Given the description of an element on the screen output the (x, y) to click on. 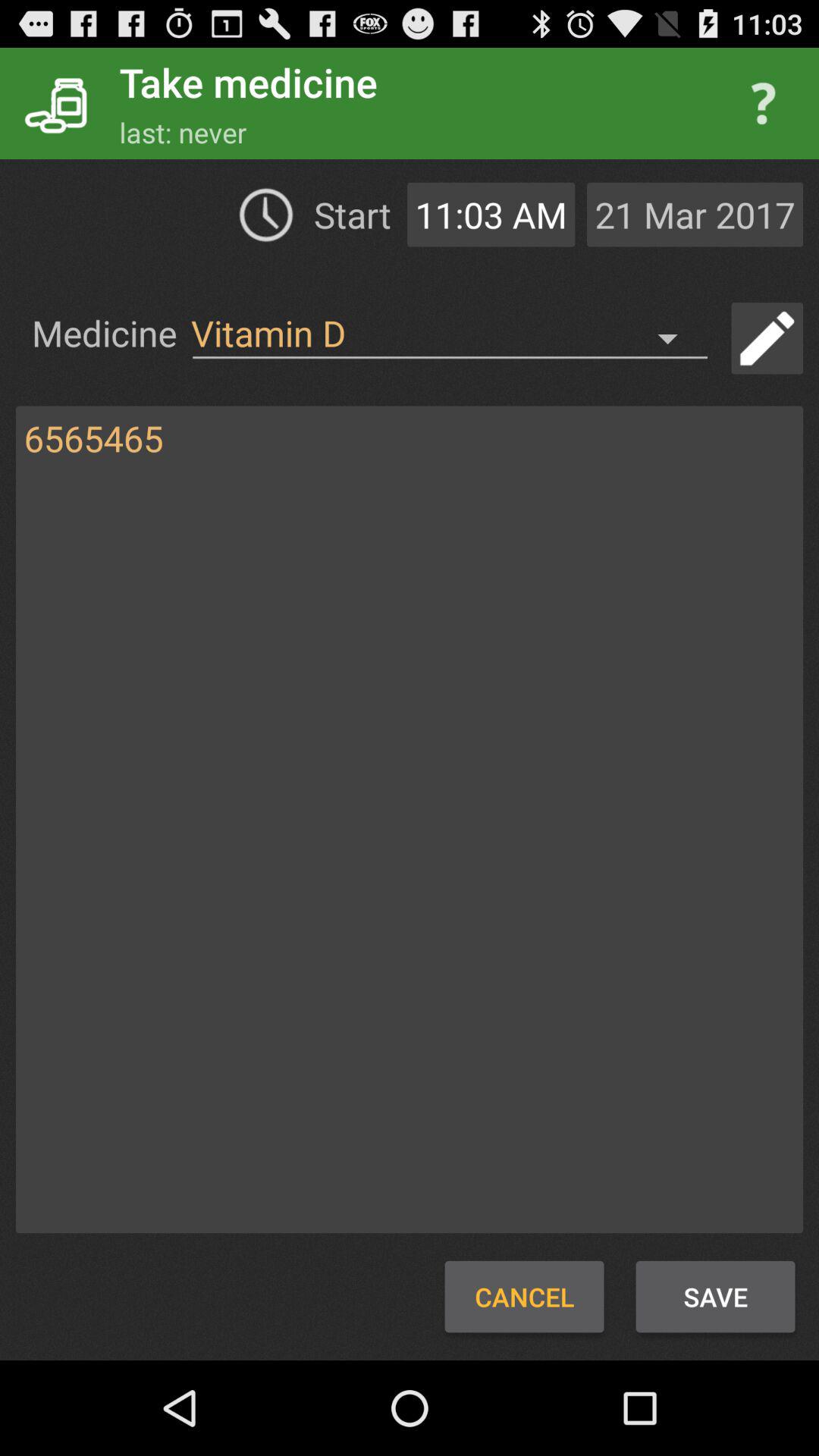
go to help (763, 103)
